Given the description of an element on the screen output the (x, y) to click on. 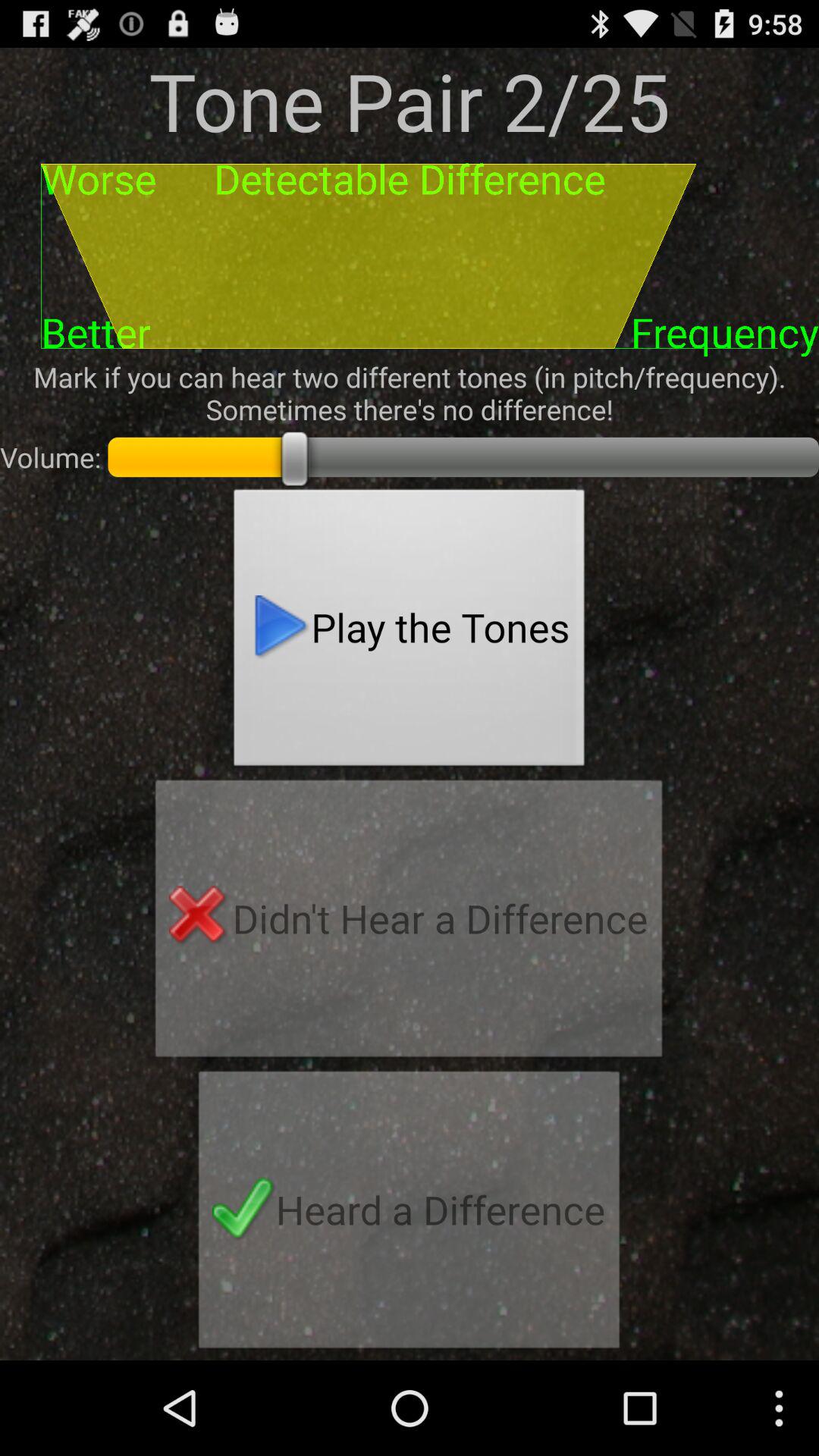
open the button above heard a difference (408, 922)
